Given the description of an element on the screen output the (x, y) to click on. 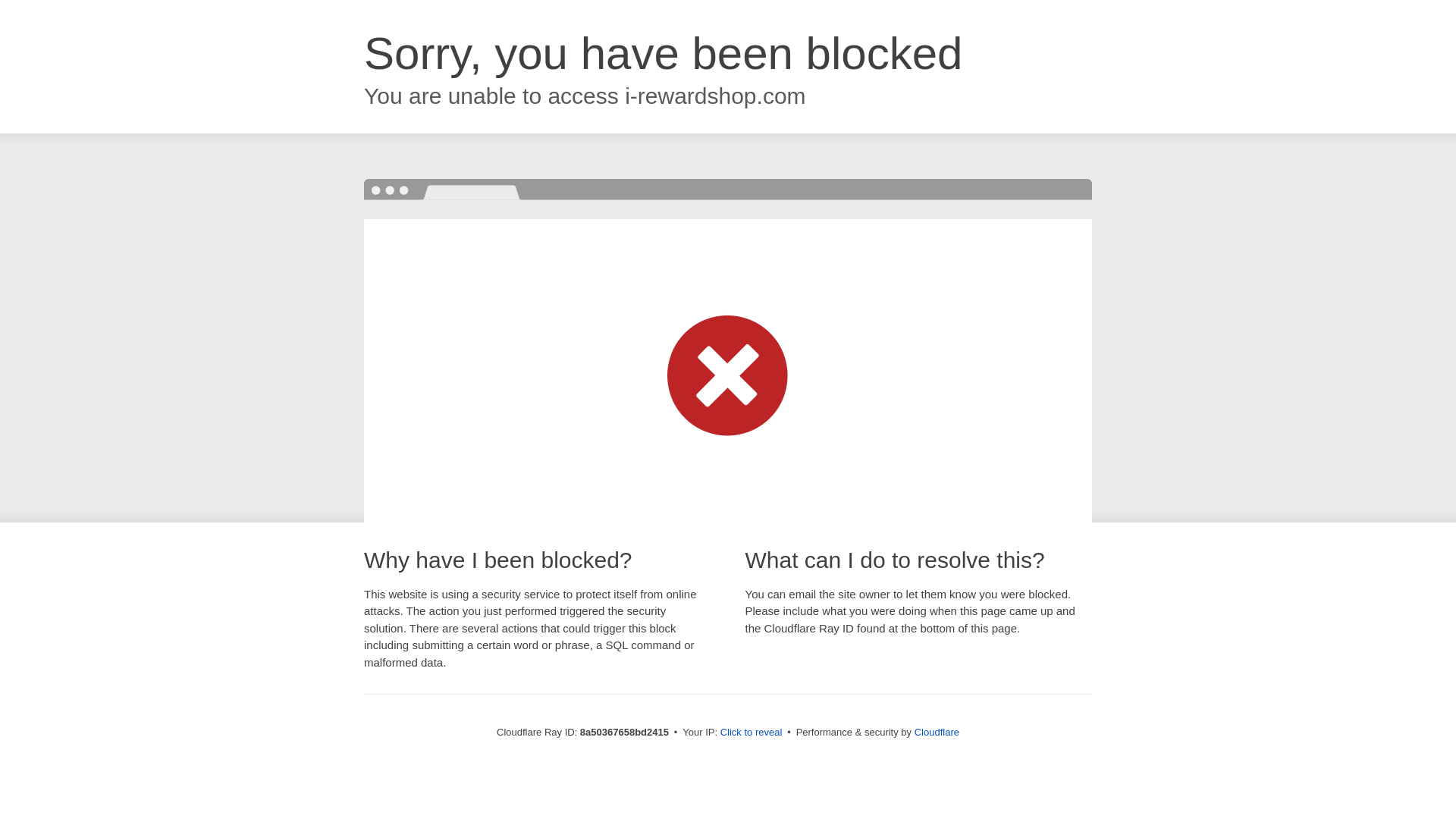
Click to reveal (751, 732)
Cloudflare (936, 731)
